Given the description of an element on the screen output the (x, y) to click on. 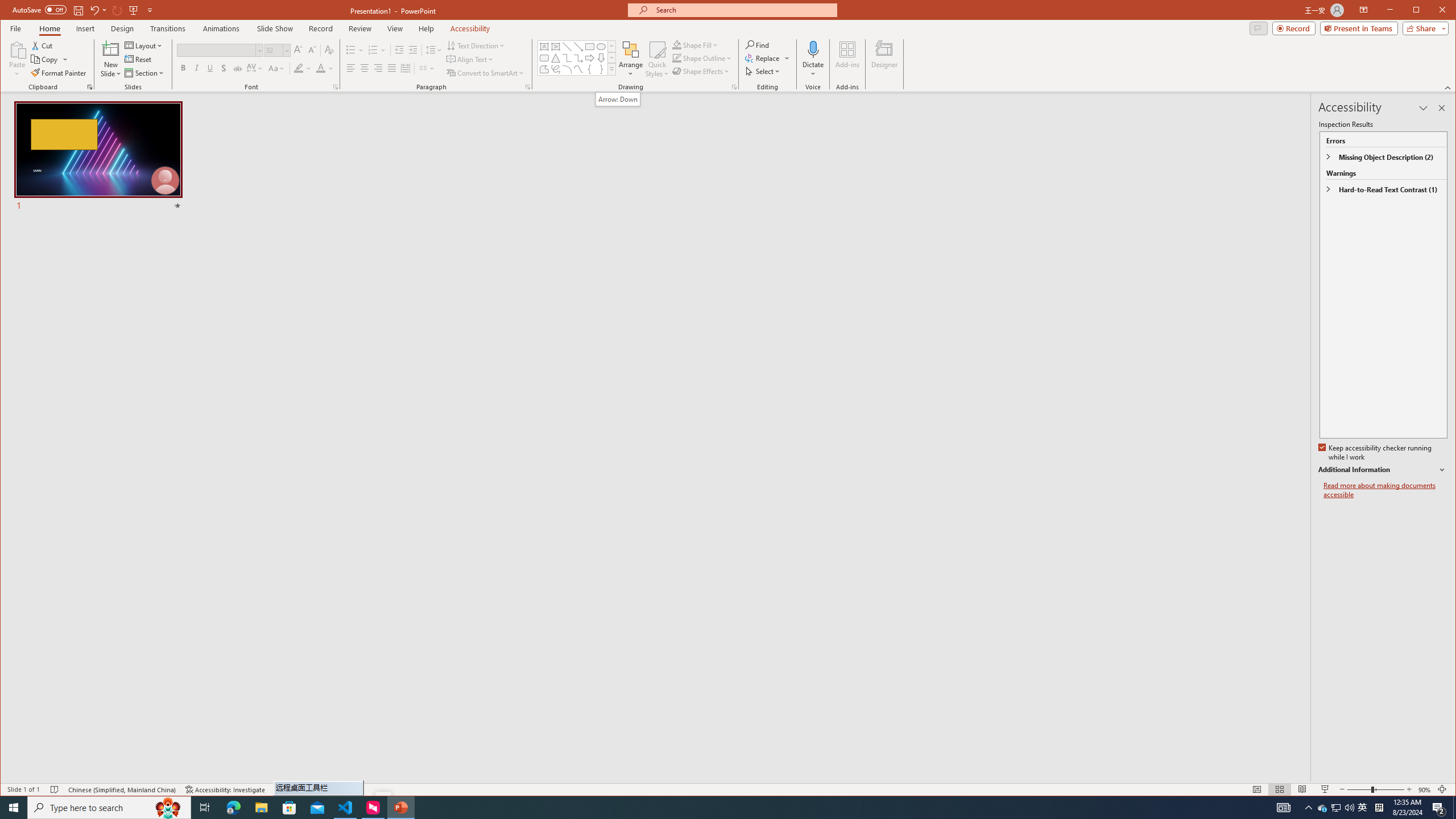
Shape Fill Orange, Accent 2 (676, 44)
Layout (143, 45)
Office Clipboard... (89, 86)
